Given the description of an element on the screen output the (x, y) to click on. 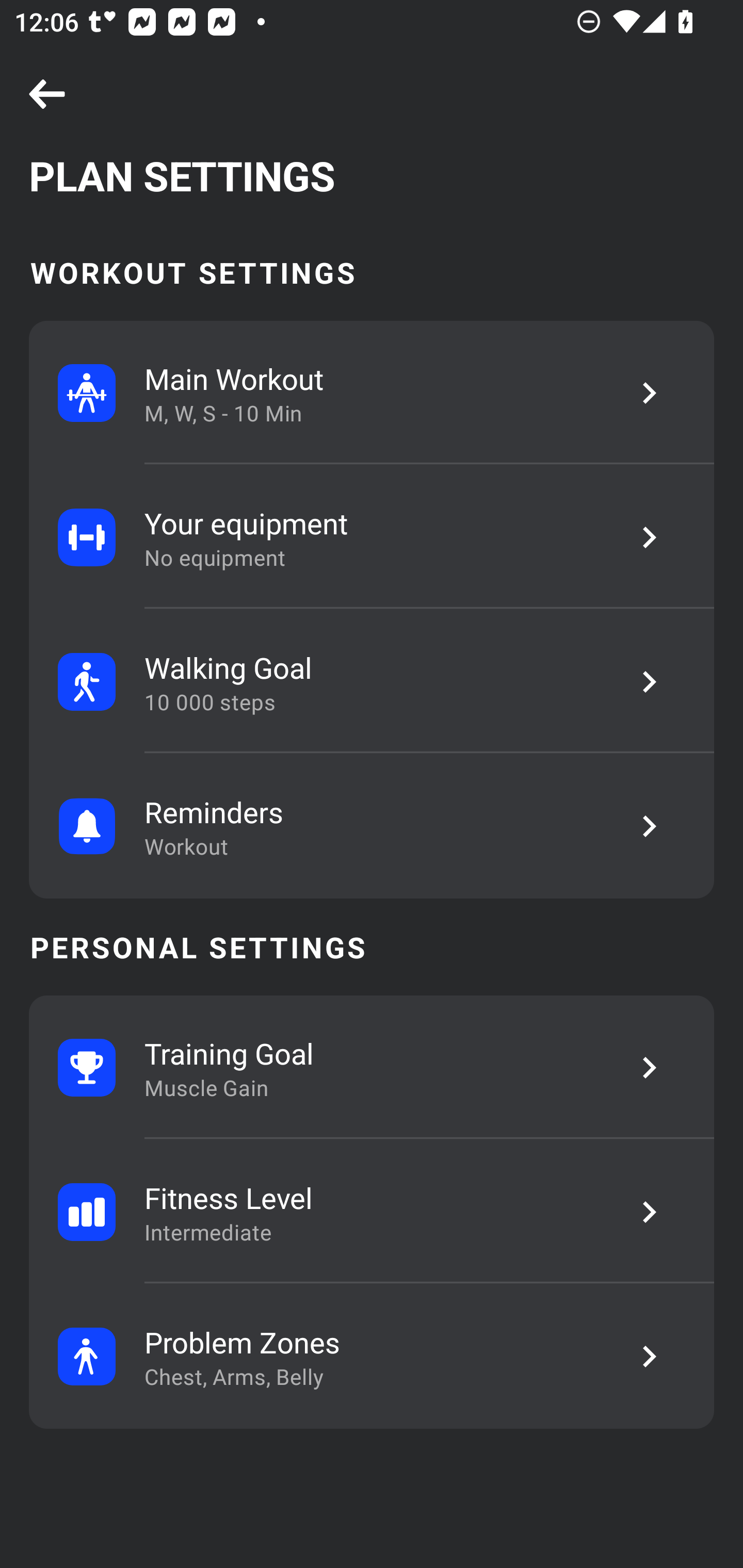
Navigation icon (46, 94)
EQUIPMENT Your equipment No equipment EQUIPMENT (371, 537)
REMINDERS Reminders Workout REMINDERS (371, 826)
